Given the description of an element on the screen output the (x, y) to click on. 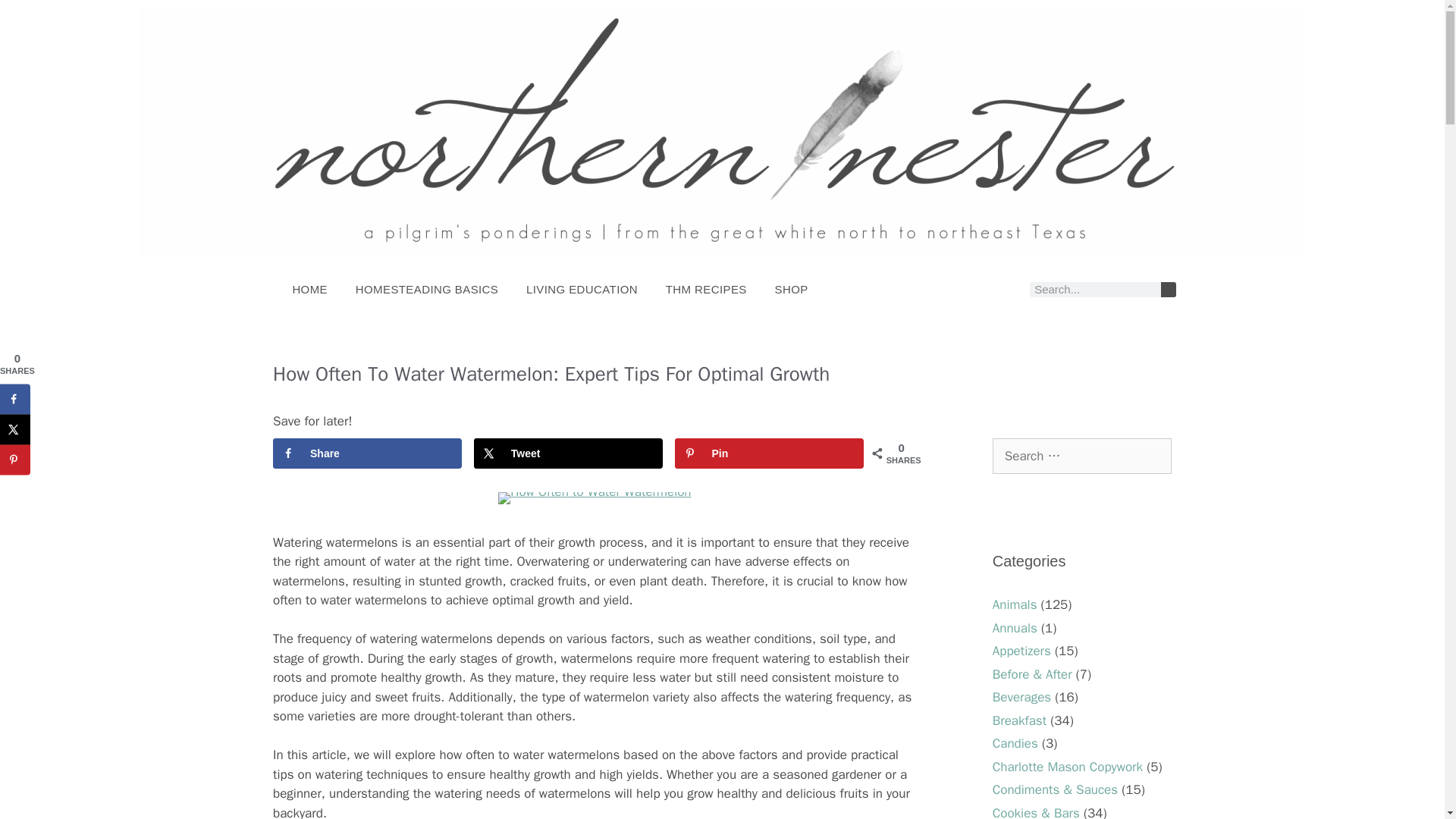
HOME (309, 289)
SHOP (791, 289)
Search for: (1082, 456)
THM RECIPES (705, 289)
Share on Facebook (15, 399)
Save to Pinterest (769, 453)
Save to Pinterest (15, 459)
LIVING EDUCATION (582, 289)
HOMESTEADING BASICS (426, 289)
Share on Facebook (367, 453)
Share on X (15, 429)
Share on X (568, 453)
